Given the description of an element on the screen output the (x, y) to click on. 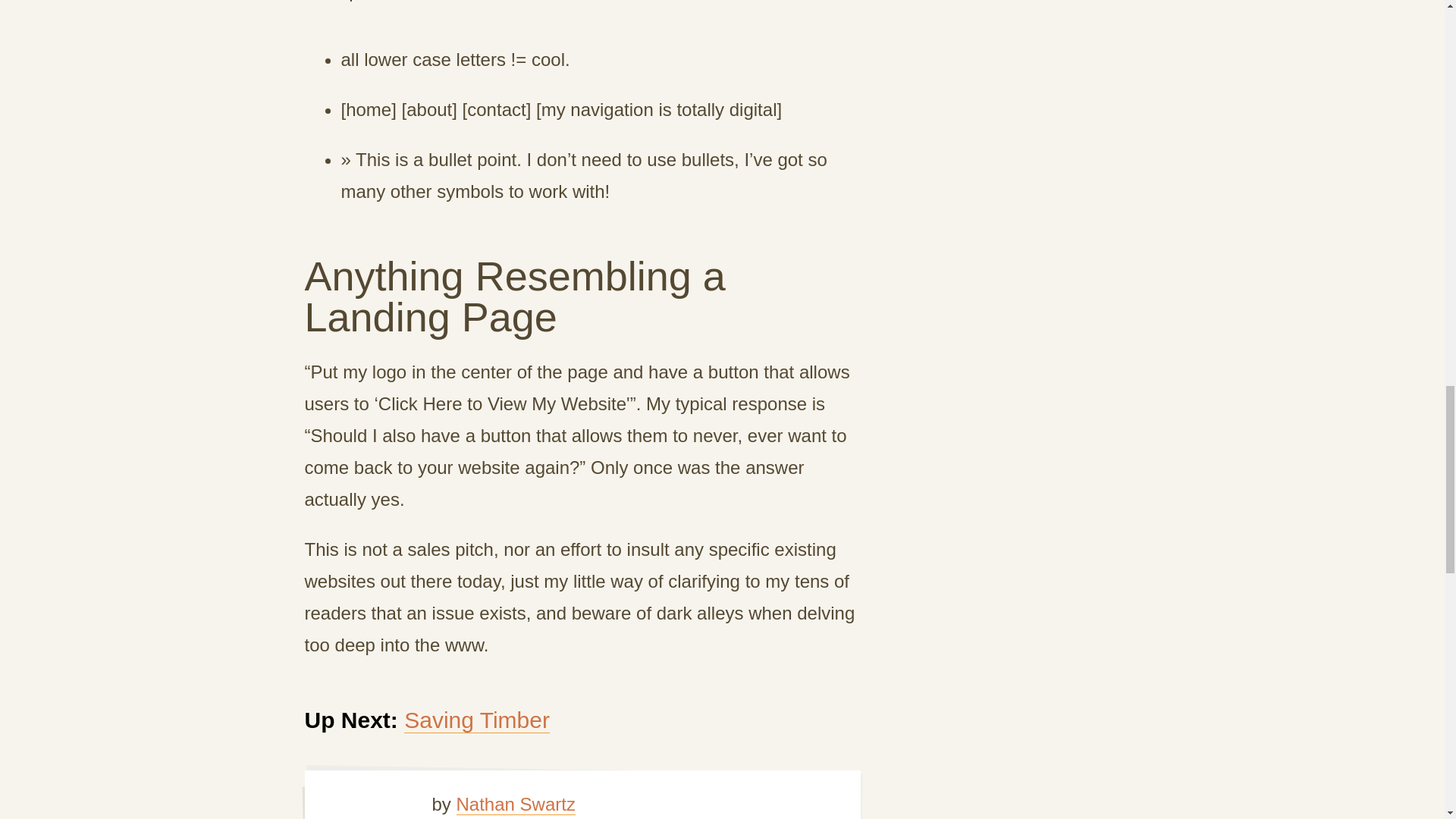
Nathan Swartz (516, 803)
Saving Timber (477, 720)
